Given the description of an element on the screen output the (x, y) to click on. 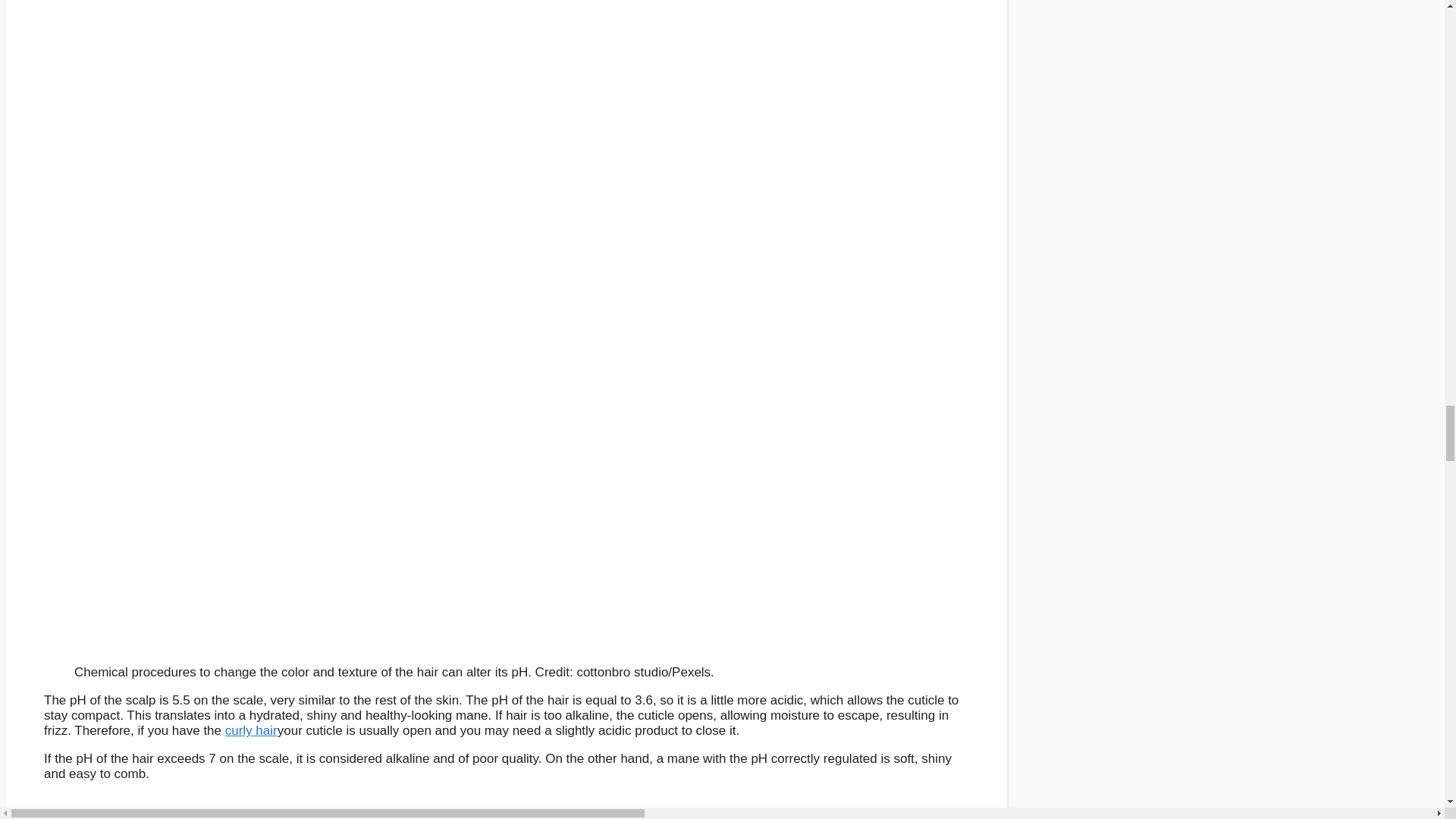
curly hair (251, 730)
